Given the description of an element on the screen output the (x, y) to click on. 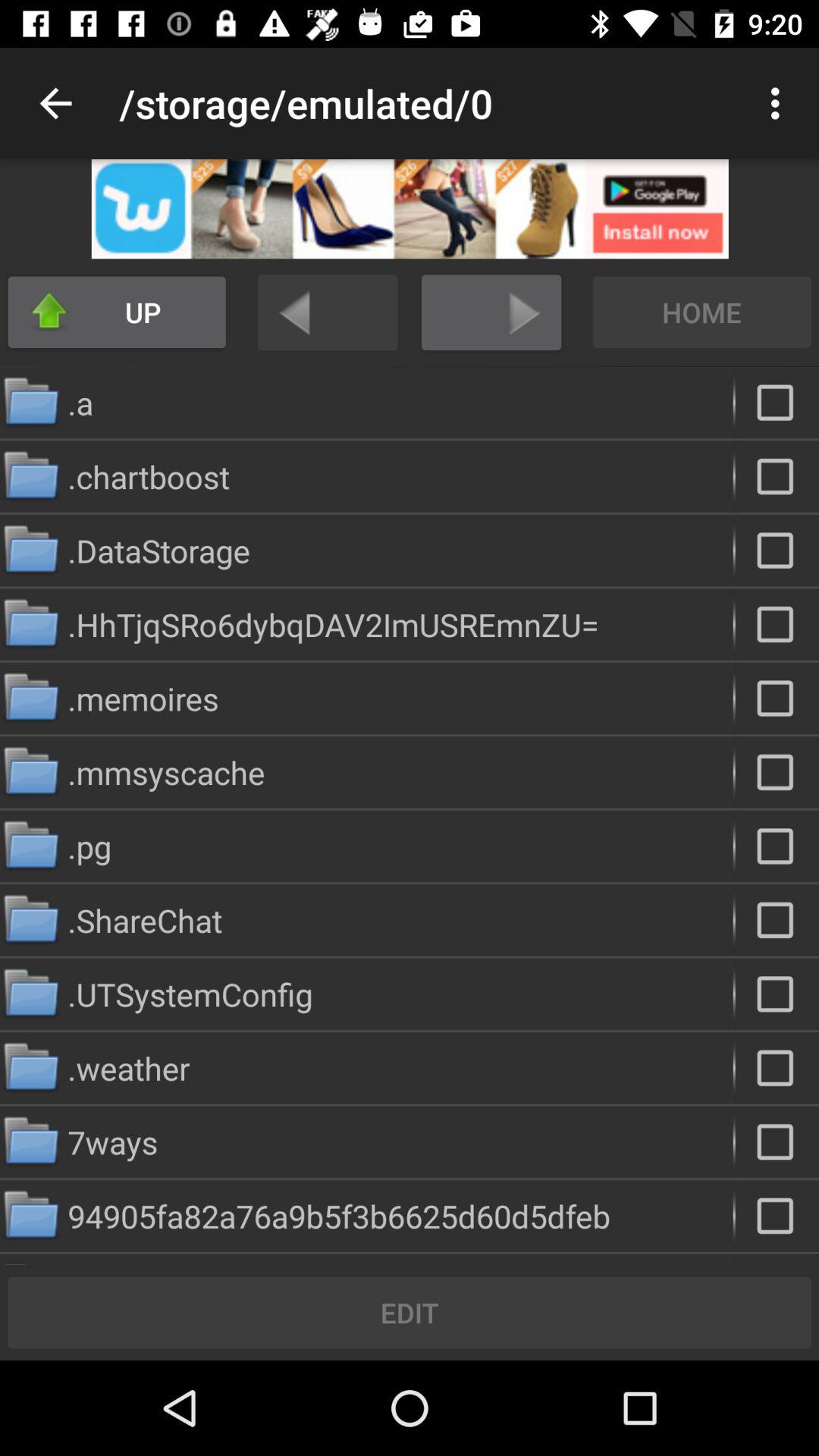
memories click button (777, 698)
